Given the description of an element on the screen output the (x, y) to click on. 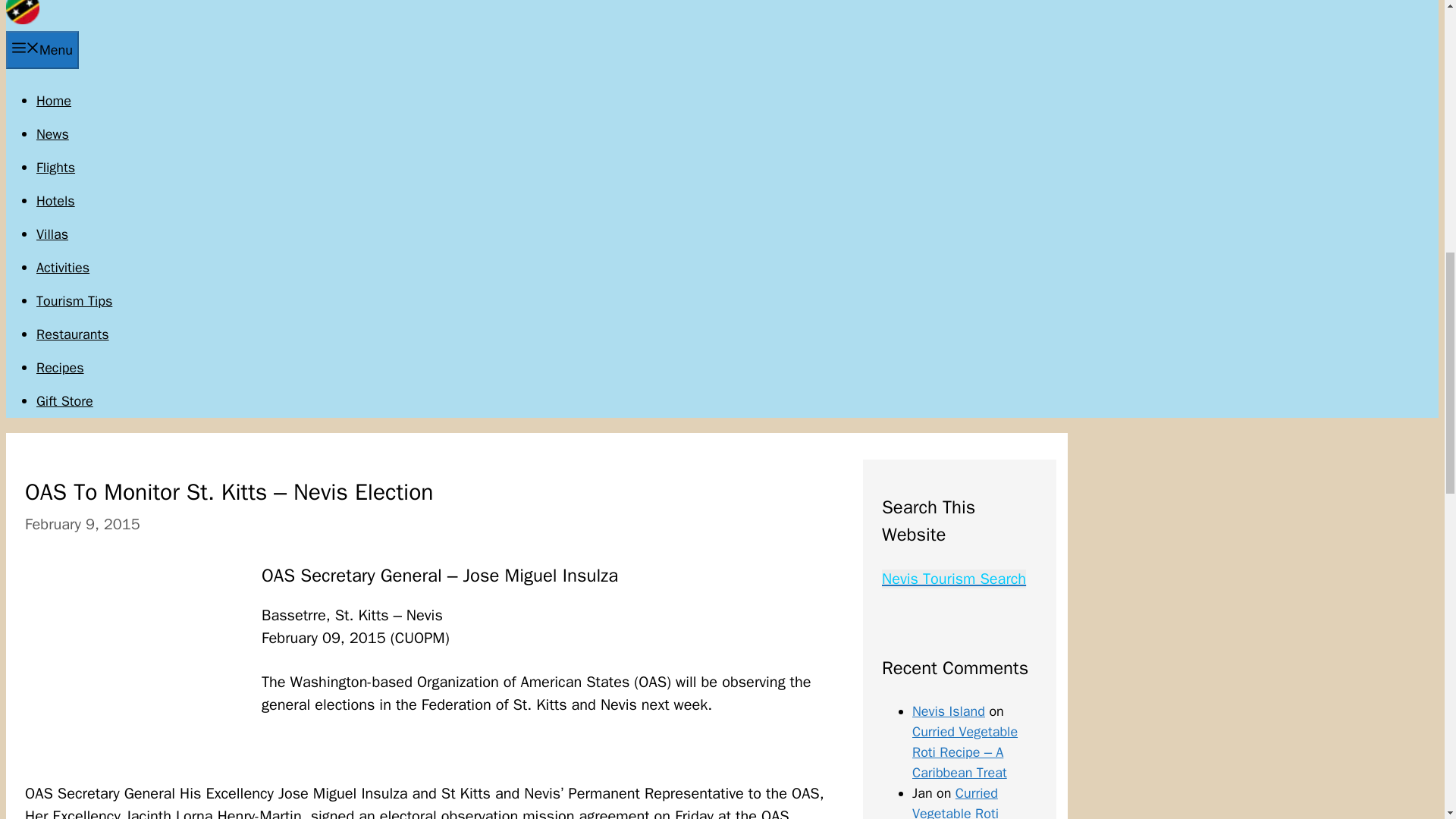
Activities (62, 267)
Nevis Villa Rentals (52, 234)
Restaurants (72, 334)
Nevis Tourism Search (954, 578)
Recipes (60, 367)
Home (53, 100)
Nevis Island News and Notes (22, 19)
Nevis Flight Information (55, 167)
Nevis News (52, 134)
Gift Store (64, 401)
Hotels (55, 200)
Nevis Island (948, 710)
Flights (55, 167)
News (52, 134)
Villas (52, 234)
